Given the description of an element on the screen output the (x, y) to click on. 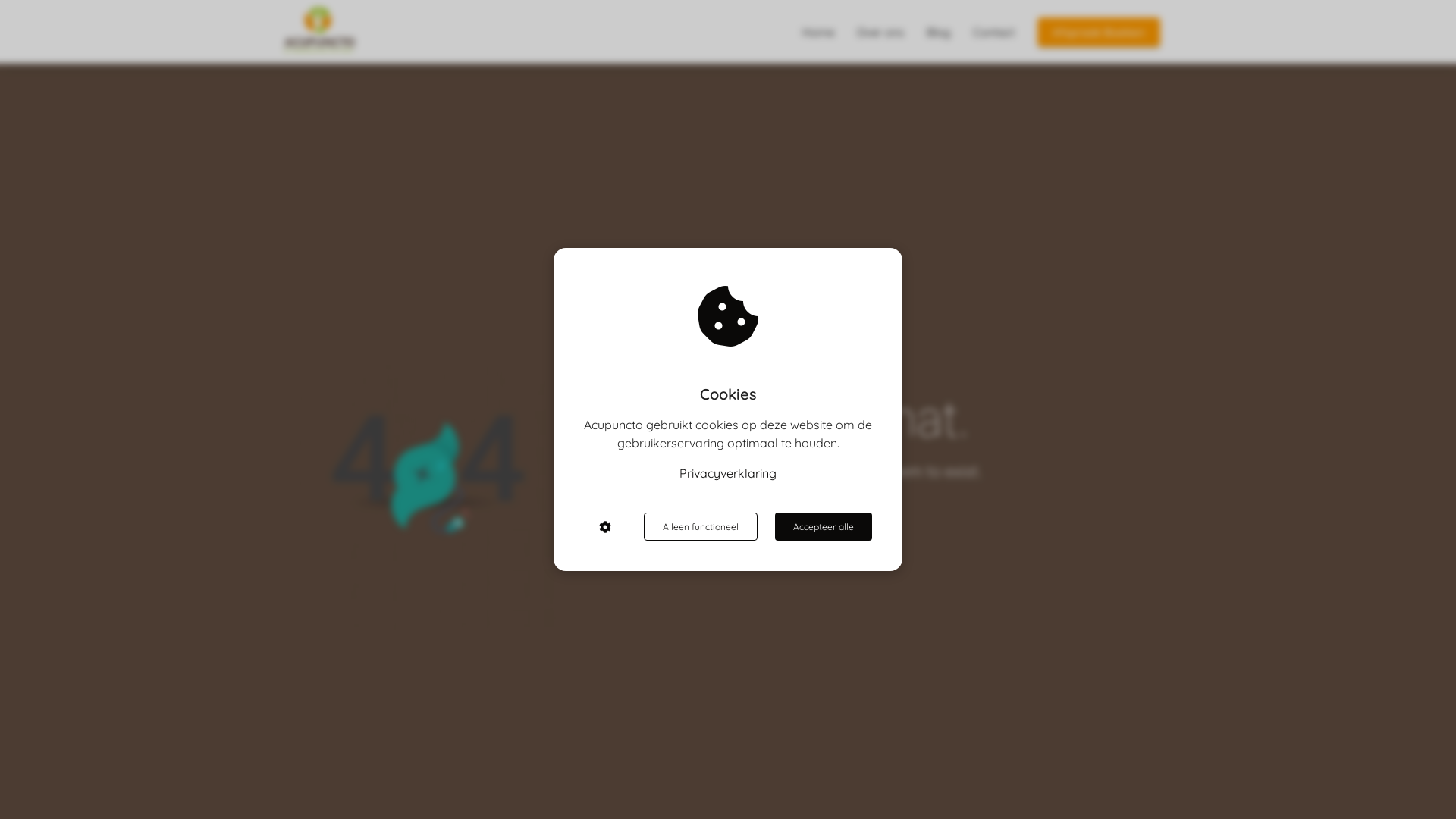
Over ons Element type: text (880, 31)
TO THE HOMEPAGE Element type: text (709, 532)
Blog Element type: text (938, 31)
Privacyverklaring Element type: text (727, 473)
Home Element type: text (817, 31)
Afspraak Boeken Element type: text (1098, 31)
Contact Element type: text (993, 31)
Acupunctuur Element type: hover (402, 30)
